Given the description of an element on the screen output the (x, y) to click on. 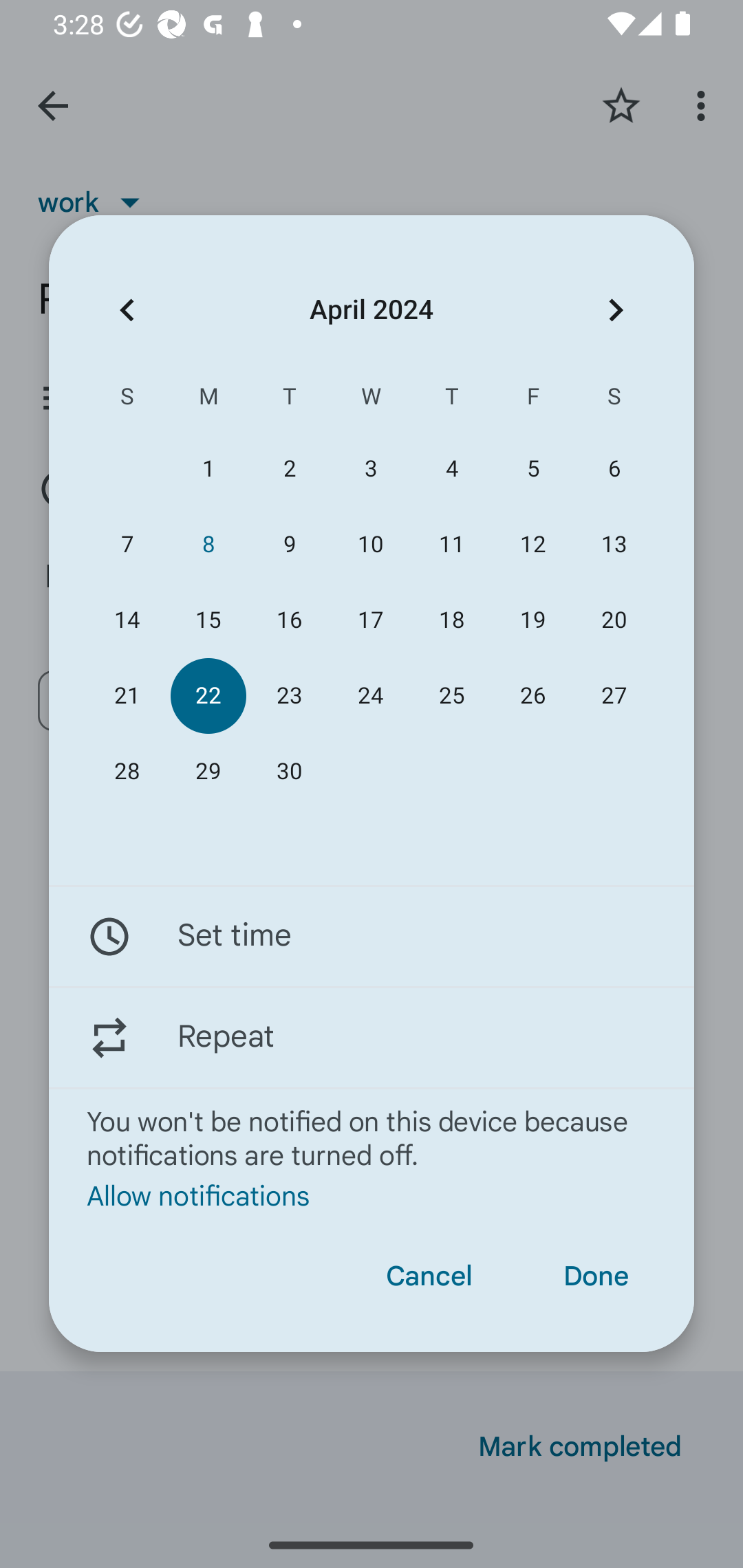
Previous month (126, 309)
Next month (615, 309)
1 01 April 2024 (207, 468)
2 02 April 2024 (288, 468)
3 03 April 2024 (370, 468)
4 04 April 2024 (451, 468)
5 05 April 2024 (532, 468)
6 06 April 2024 (613, 468)
7 07 April 2024 (126, 543)
8 08 April 2024 (207, 543)
9 09 April 2024 (288, 543)
10 10 April 2024 (370, 543)
11 11 April 2024 (451, 543)
12 12 April 2024 (532, 543)
13 13 April 2024 (613, 543)
14 14 April 2024 (126, 619)
15 15 April 2024 (207, 619)
16 16 April 2024 (288, 619)
17 17 April 2024 (370, 619)
18 18 April 2024 (451, 619)
19 19 April 2024 (532, 619)
20 20 April 2024 (613, 619)
21 21 April 2024 (126, 695)
22 22 April 2024 (207, 695)
23 23 April 2024 (288, 695)
24 24 April 2024 (370, 695)
25 25 April 2024 (451, 695)
26 26 April 2024 (532, 695)
27 27 April 2024 (613, 695)
28 28 April 2024 (126, 771)
29 29 April 2024 (207, 771)
30 30 April 2024 (288, 771)
Set time (371, 936)
Repeat (371, 1036)
Allow notifications (371, 1195)
Cancel (429, 1275)
Done (595, 1275)
